Given the description of an element on the screen output the (x, y) to click on. 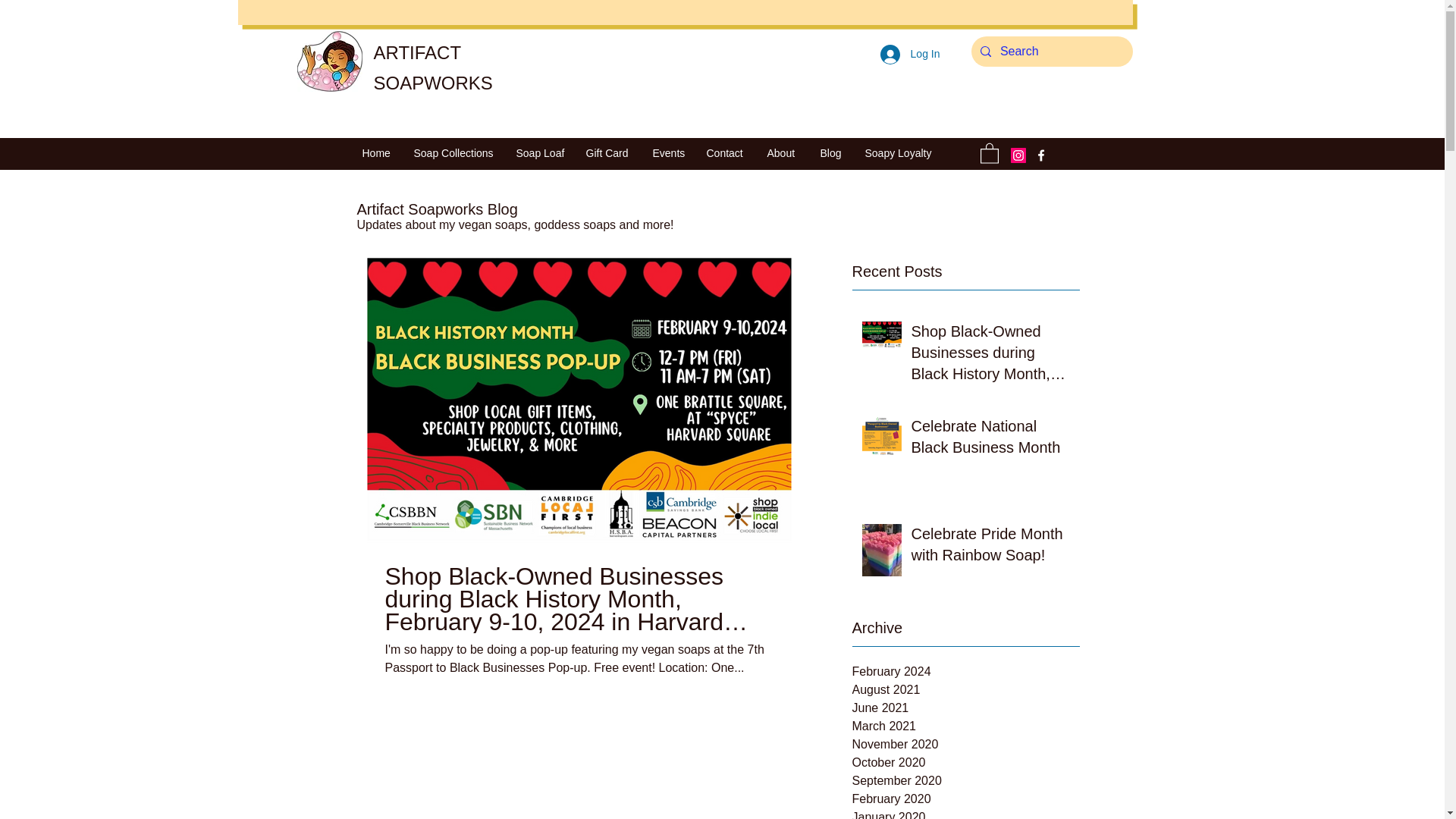
September 2020 (965, 781)
Log In (909, 53)
Events (668, 152)
February 2024 (965, 671)
Celebrate Pride Month with Rainbow Soap! (990, 547)
Soapy Loyalty (896, 152)
March 2021 (965, 726)
Soap Loaf (540, 152)
Contact (724, 152)
October 2020 (965, 762)
